Given the description of an element on the screen output the (x, y) to click on. 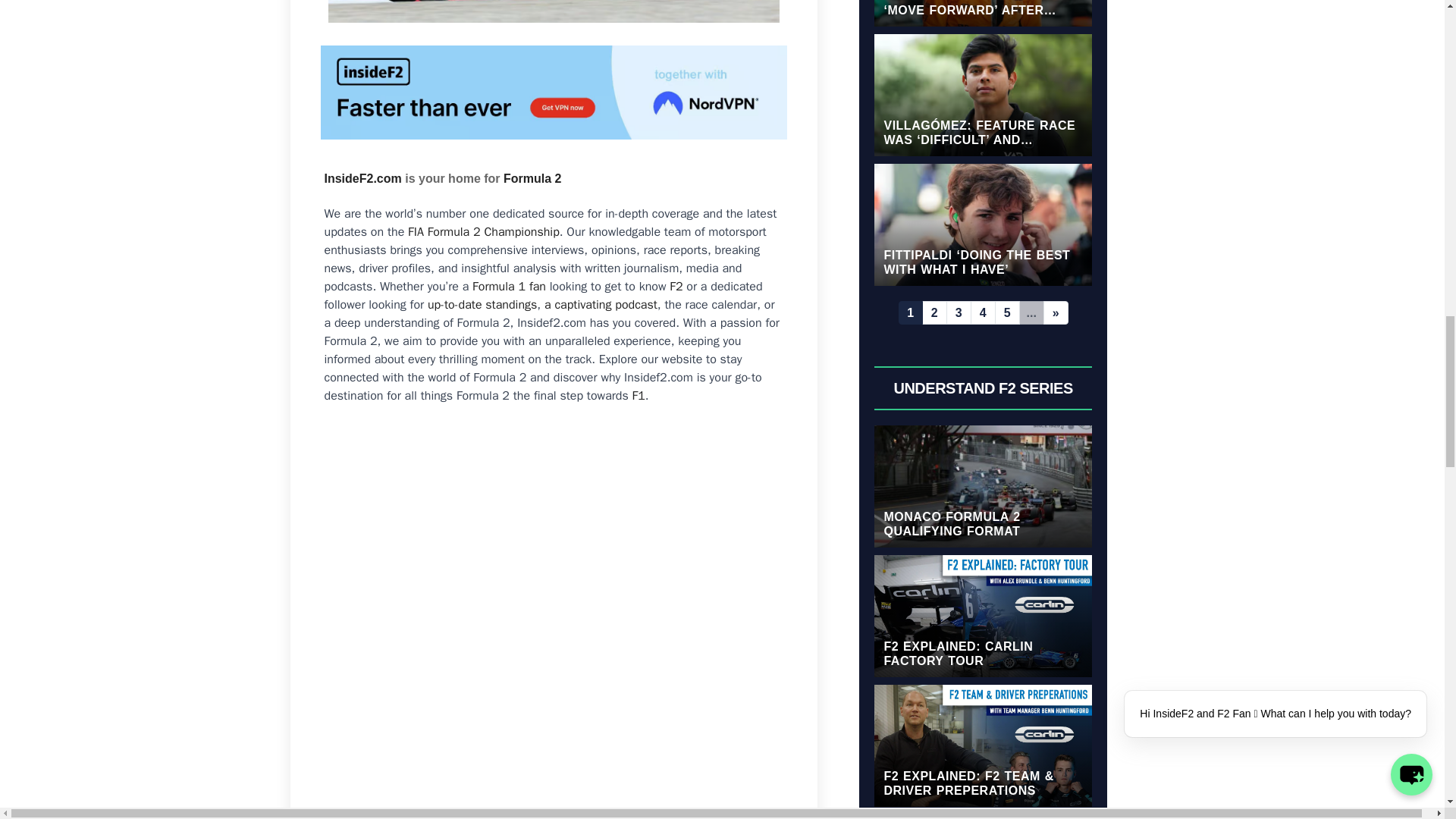
up-to-date standings (482, 304)
Formula 2 (531, 178)
InsideF2.com (362, 178)
FIA Formula 2 Championship (483, 231)
Formula 1 fan (508, 286)
F2 (675, 286)
Next page (1055, 312)
